Given the description of an element on the screen output the (x, y) to click on. 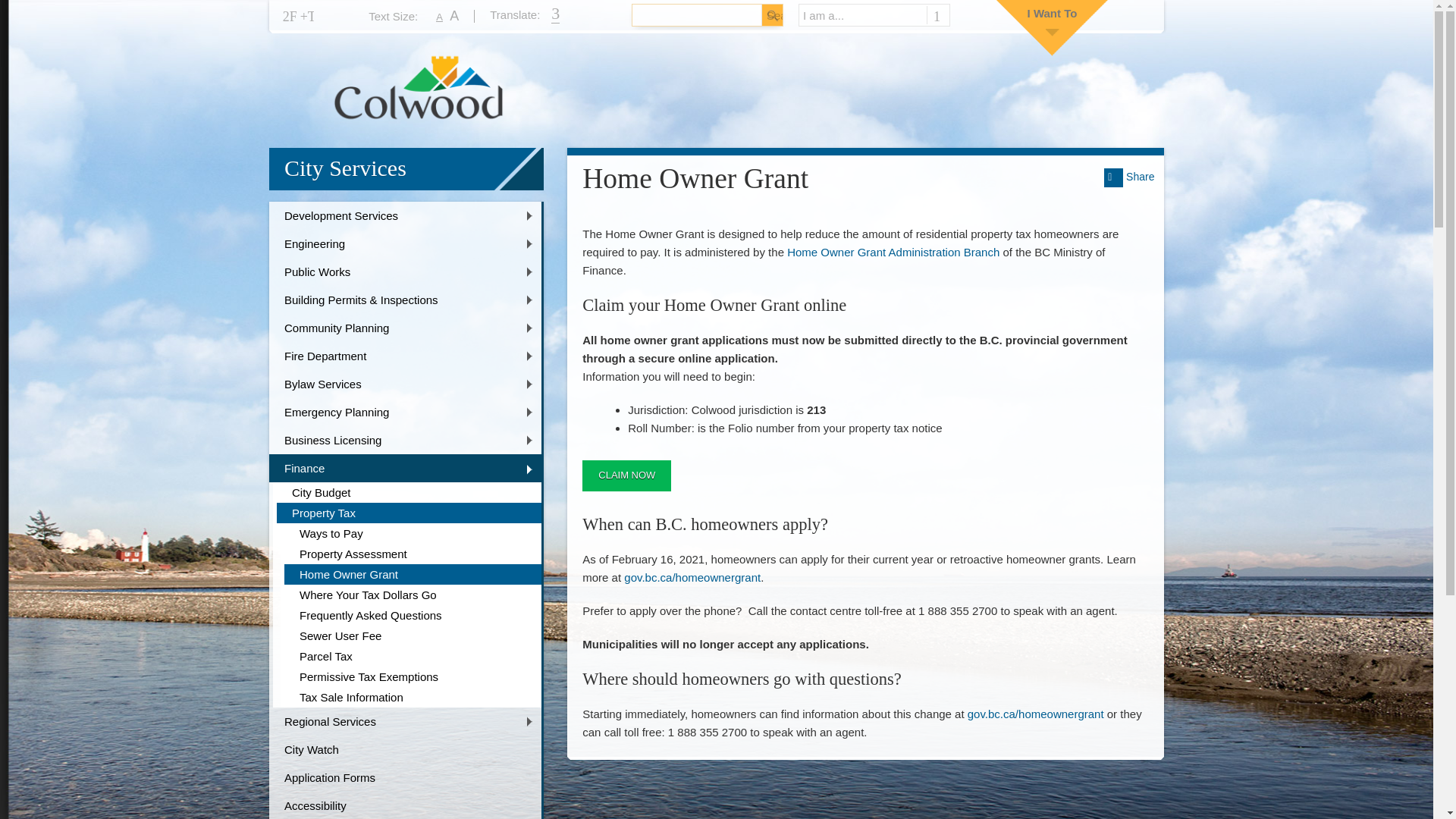
Facebook (289, 16)
Search (772, 14)
Twitter (306, 16)
Enter the terms you wish to search for. (684, 14)
